Given the description of an element on the screen output the (x, y) to click on. 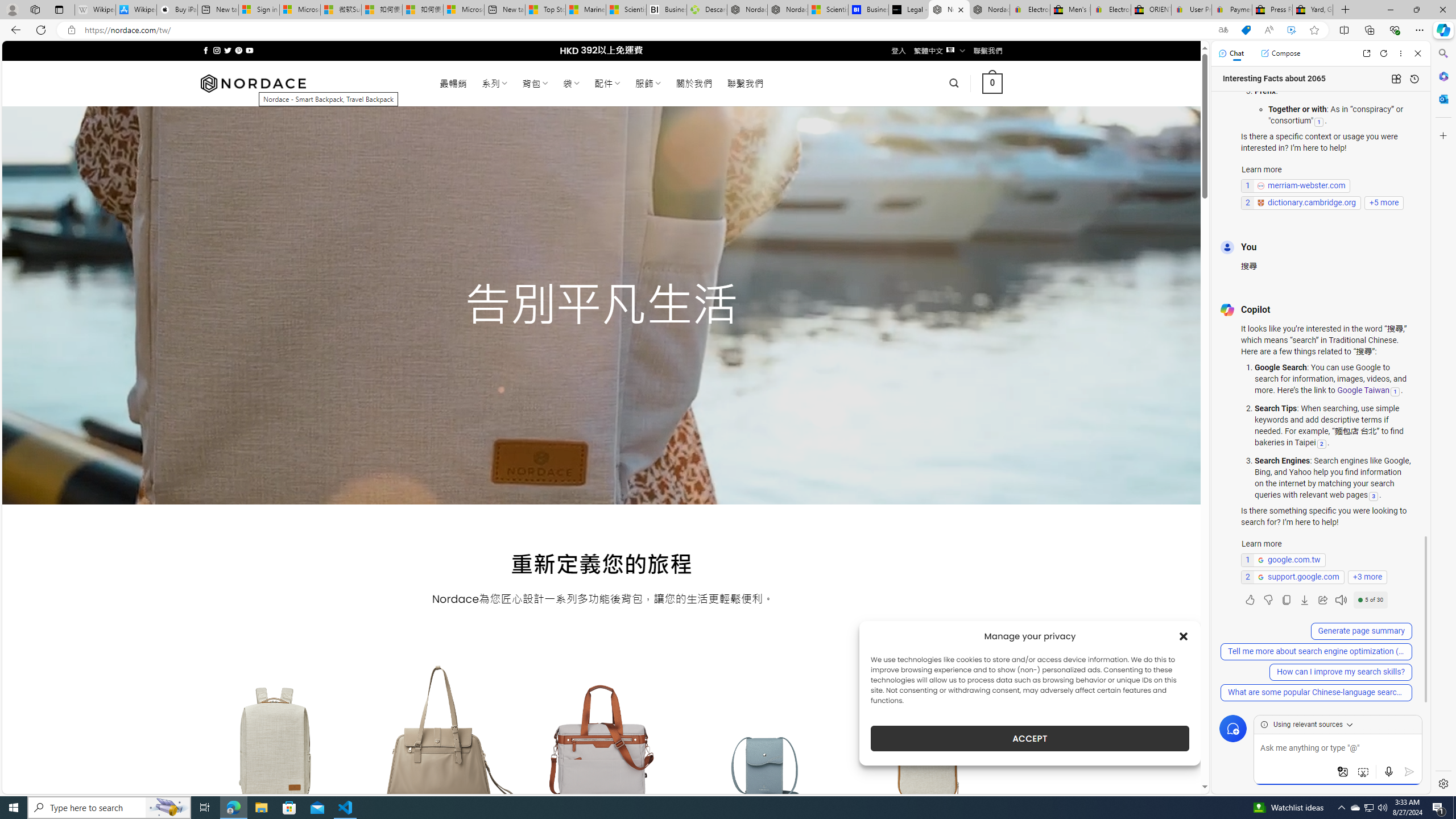
Class: cmplz-close (1183, 636)
Follow on YouTube (249, 50)
Follow on Facebook (205, 50)
